Given the description of an element on the screen output the (x, y) to click on. 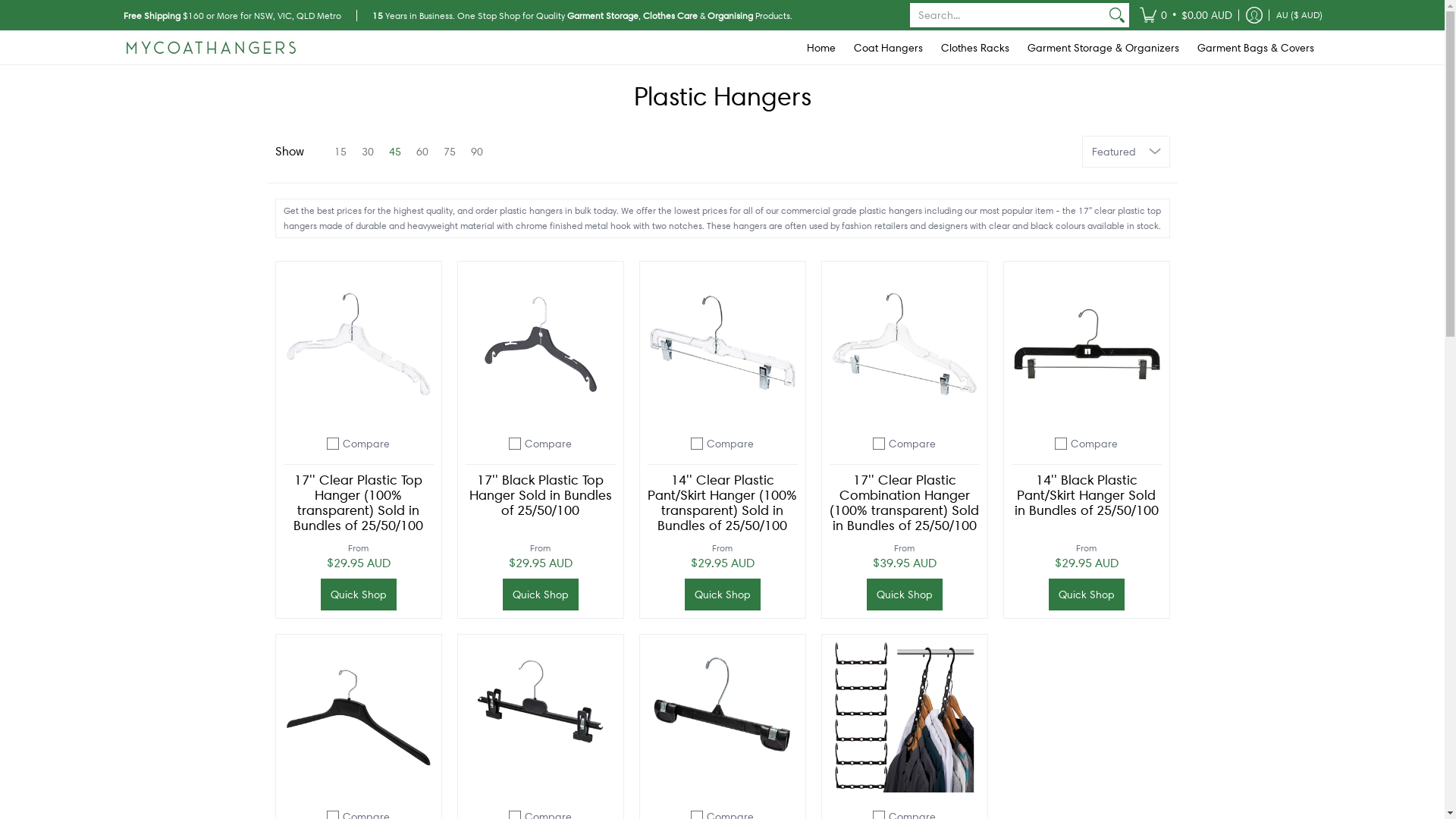
17'' Black Plastic Top Hanger Sold in Bundles of 25/50/100 Element type: text (539, 494)
Quick Shop Element type: text (721, 593)
Mycoathangers Element type: hover (209, 47)
Log in Element type: hover (1254, 15)
Quick Shop Element type: text (1085, 593)
Quick Shop Element type: text (903, 593)
Compare Element type: text (1093, 442)
Add to compare Element type: hover (1060, 442)
60 Element type: text (421, 150)
Compare Element type: text (547, 442)
Quick Shop Element type: text (357, 593)
Add to compare Element type: hover (332, 442)
Clothes Racks Element type: text (974, 47)
Add to compare Element type: hover (696, 442)
Garment Bags & Covers Element type: text (1255, 47)
Quick Shop Element type: text (539, 593)
75 Element type: text (448, 150)
Buy Space Saving ABS Plastic Hangers - Black - Sold in 5/25 Element type: hover (904, 716)
Coat Hangers Element type: text (888, 47)
Compare Element type: text (911, 442)
Compare Element type: text (729, 442)
15 Element type: text (328, 150)
AU ($ AUD) Element type: text (1299, 15)
Home Element type: text (821, 47)
90 Element type: text (475, 150)
30 Element type: text (366, 150)
Add to compare Element type: hover (514, 442)
Add to compare Element type: hover (878, 442)
Garment Storage & Organizers Element type: text (1102, 47)
45 Element type: text (393, 150)
Compare Element type: text (365, 442)
